Given the description of an element on the screen output the (x, y) to click on. 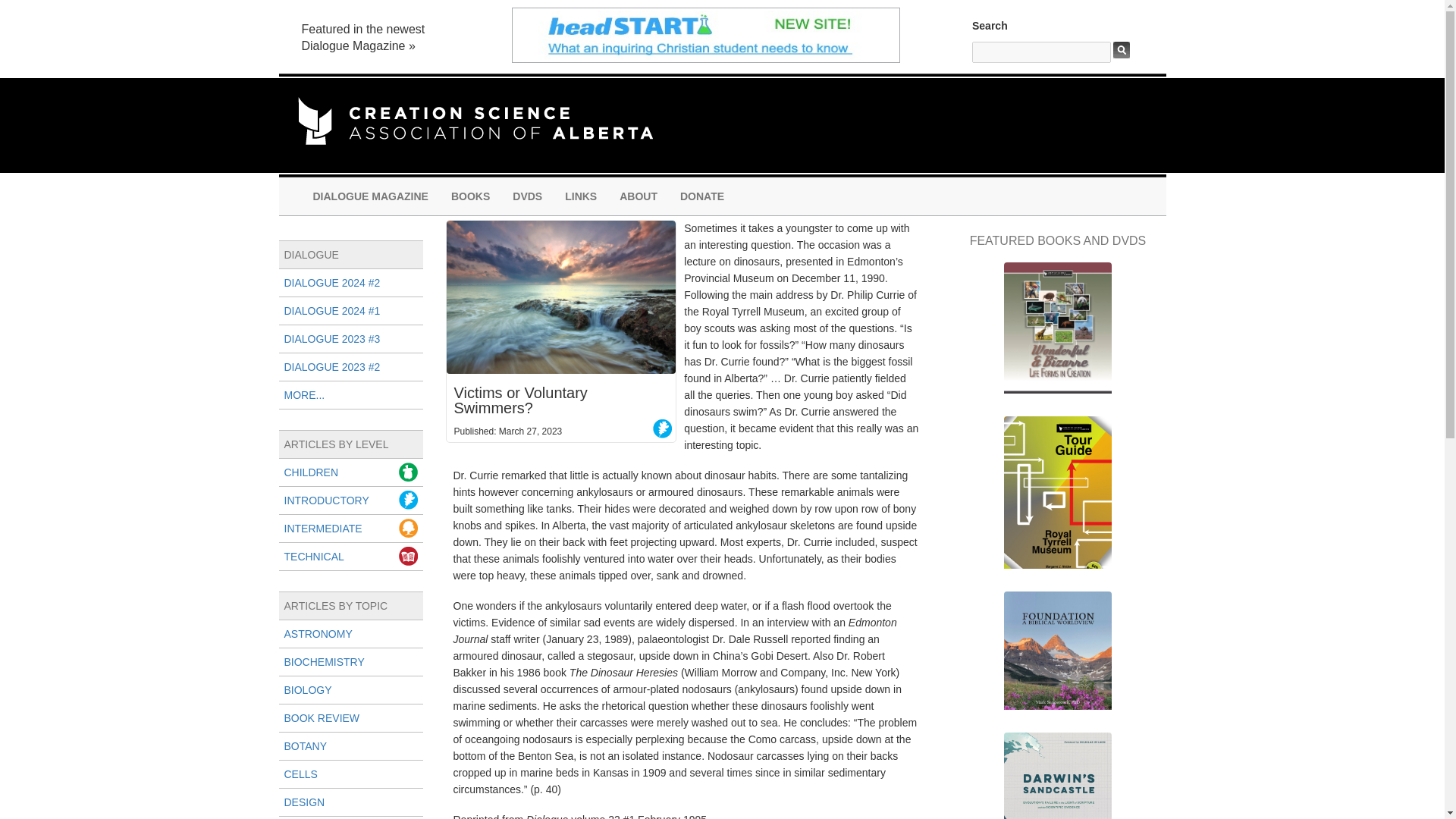
Victims or Voluntary Swimmers? (560, 296)
DIALOGUE MAGAZINE (370, 196)
DVDS (526, 196)
Foundation: A Biblical Worldview (1057, 657)
DONATE (701, 196)
BOOKS (469, 196)
ABOUT (638, 196)
Permanent Link to Victims or Voluntary Swimmers? (560, 400)
Wonderful and Bizarre Life Forms in Creation (1057, 335)
LINKS (580, 196)
